Given the description of an element on the screen output the (x, y) to click on. 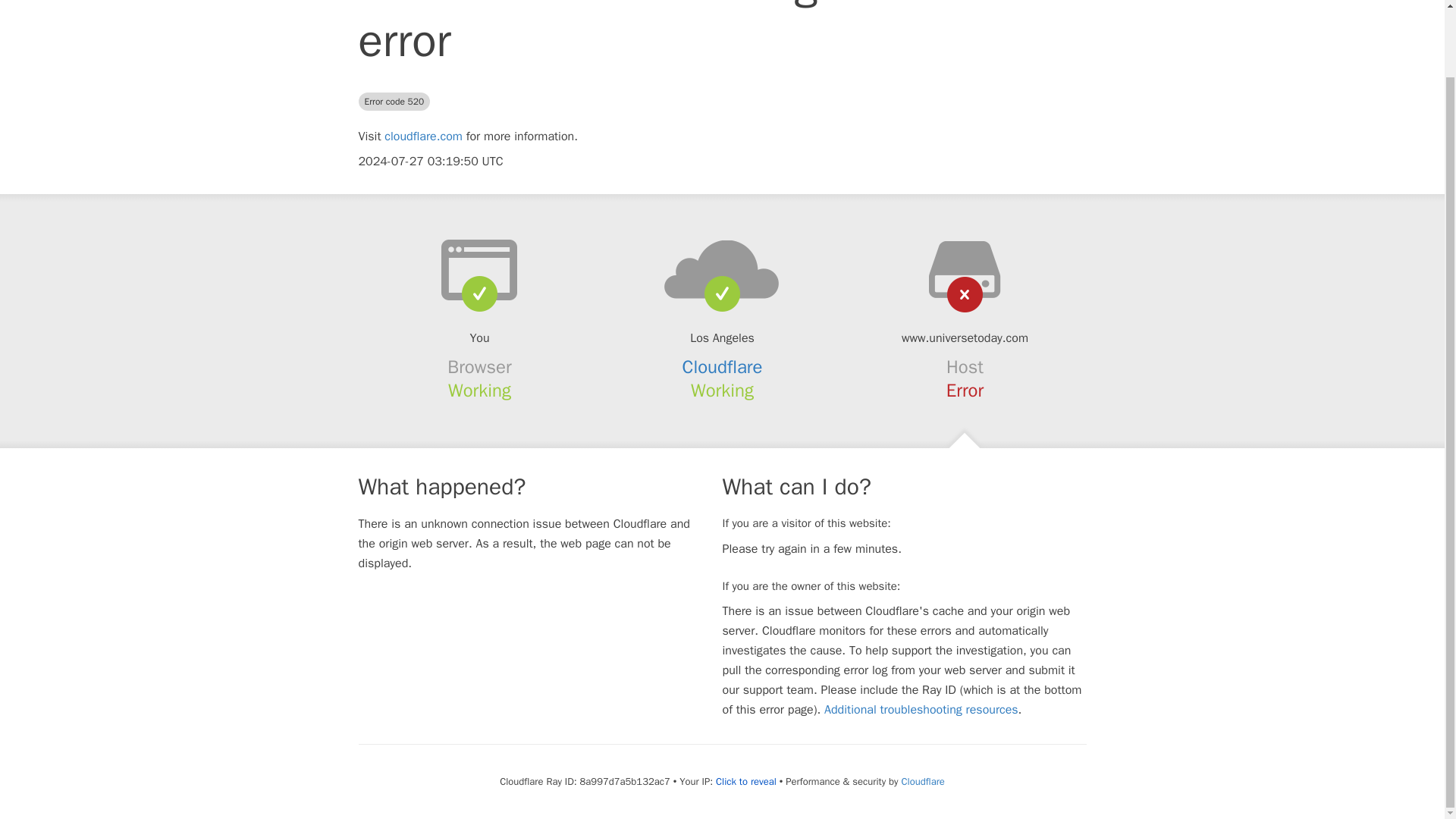
Cloudflare (922, 780)
Click to reveal (746, 781)
cloudflare.com (423, 136)
Additional troubleshooting resources (920, 709)
Cloudflare (722, 366)
